Given the description of an element on the screen output the (x, y) to click on. 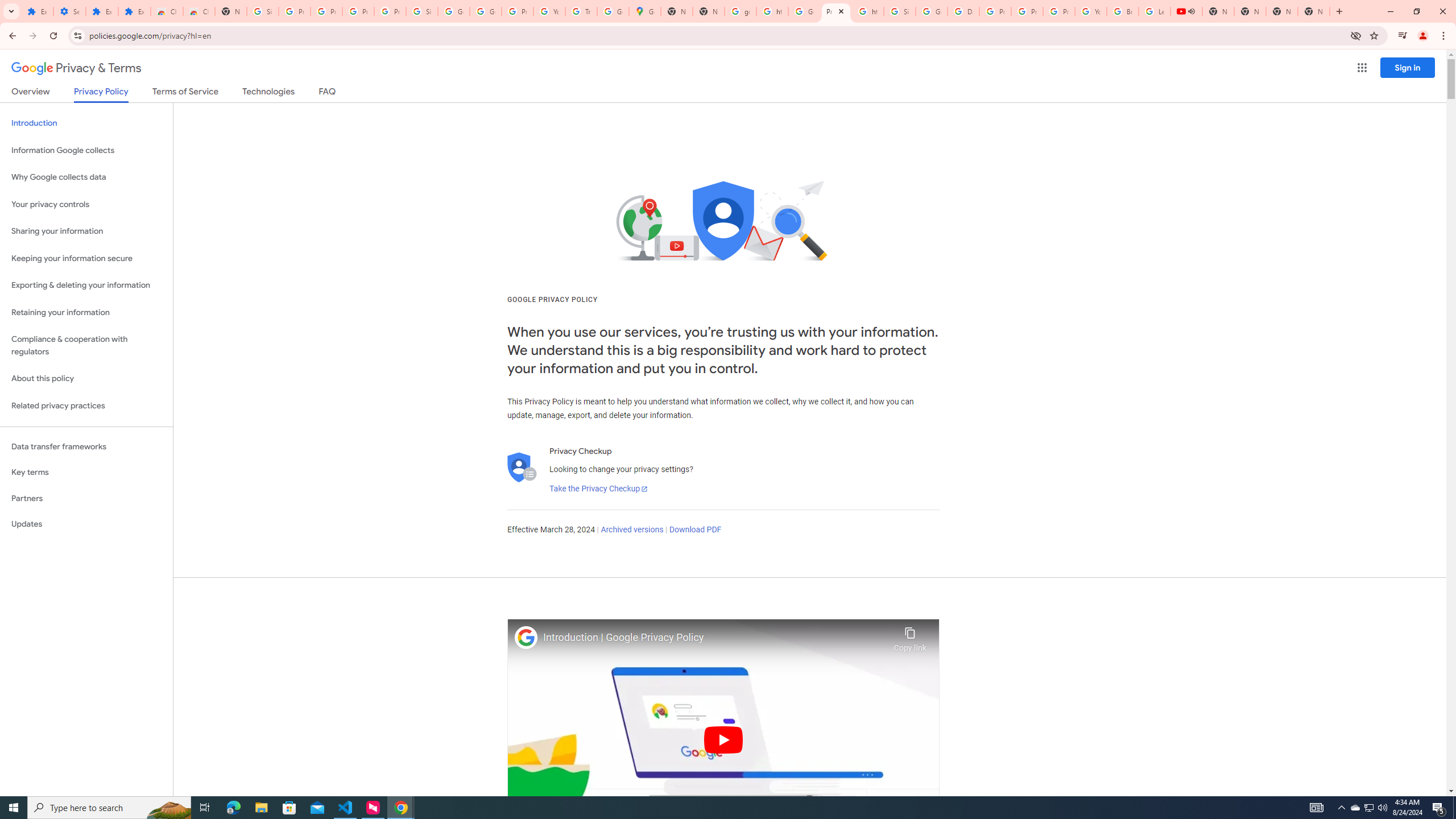
Information Google collects (86, 150)
Take the Privacy Checkup (597, 488)
New Tab (230, 11)
